Given the description of an element on the screen output the (x, y) to click on. 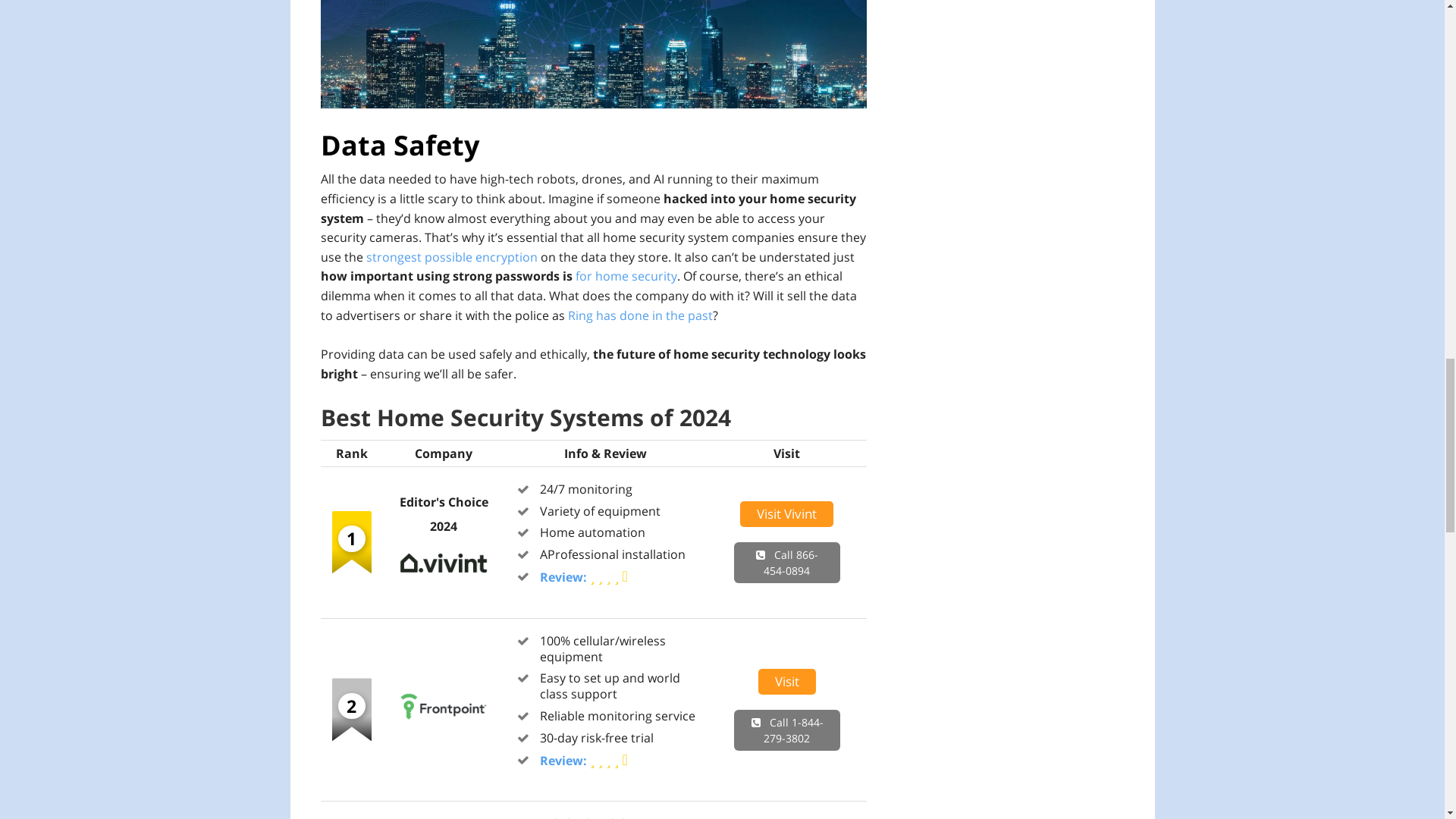
for home security (626, 275)
Visit Frontpoint Security (443, 725)
strongest possible encryption (451, 256)
Visit Vivint (443, 582)
Ring has done in the past (639, 314)
